Given the description of an element on the screen output the (x, y) to click on. 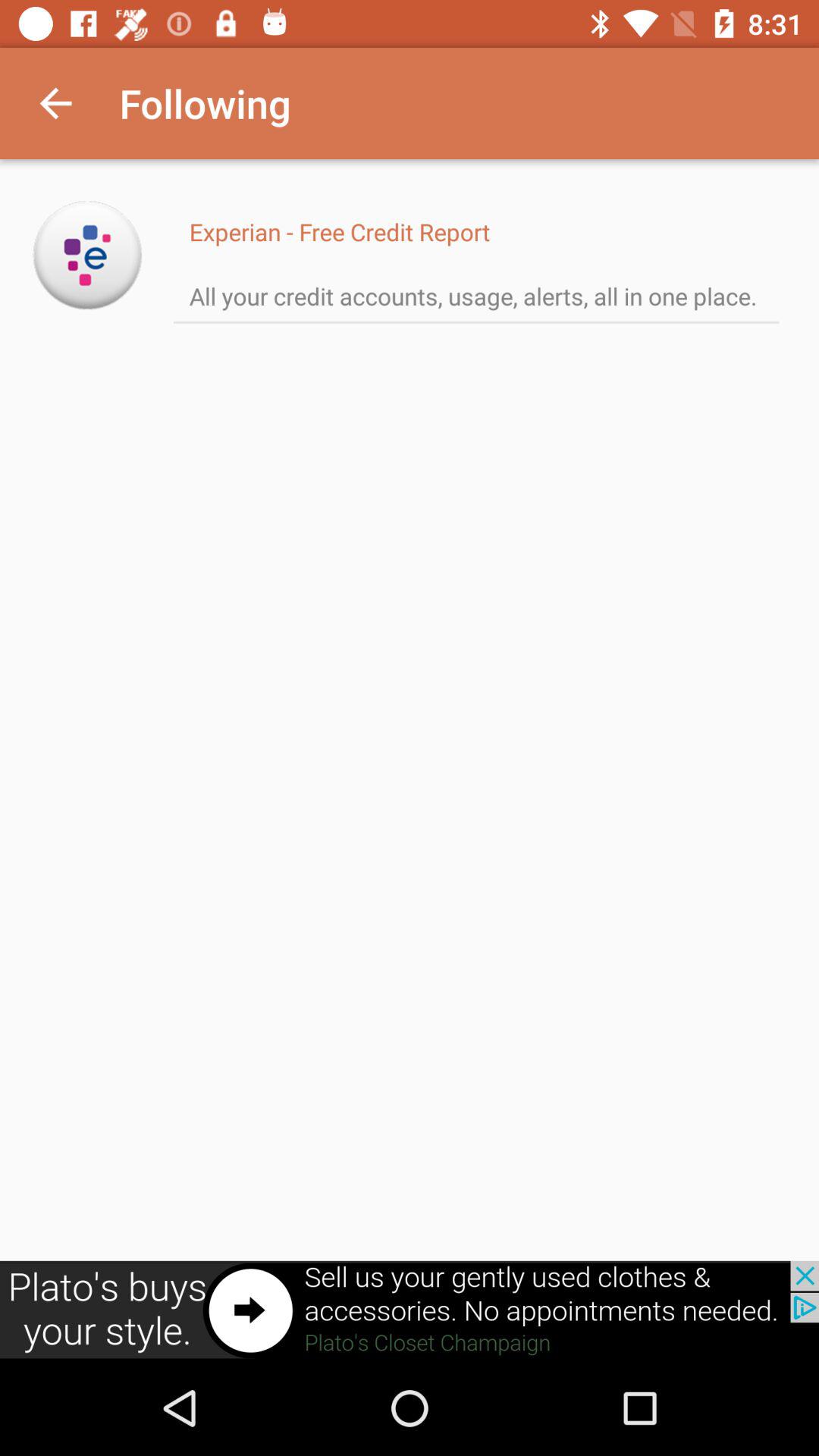
go to site (87, 255)
